Given the description of an element on the screen output the (x, y) to click on. 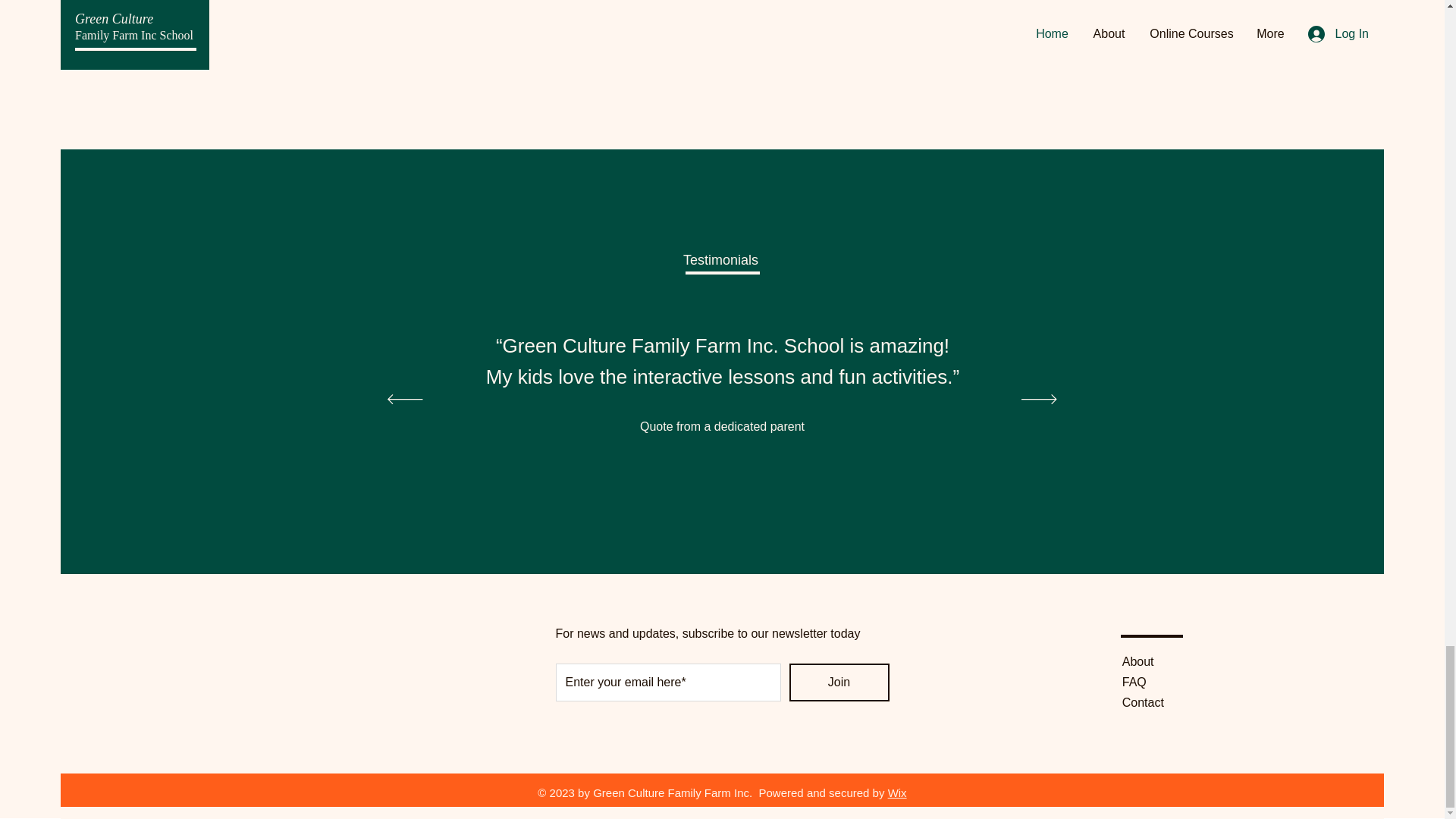
Contact (1142, 702)
Wix (897, 792)
About (1138, 661)
Join (838, 682)
FAQ (1134, 681)
